Given the description of an element on the screen output the (x, y) to click on. 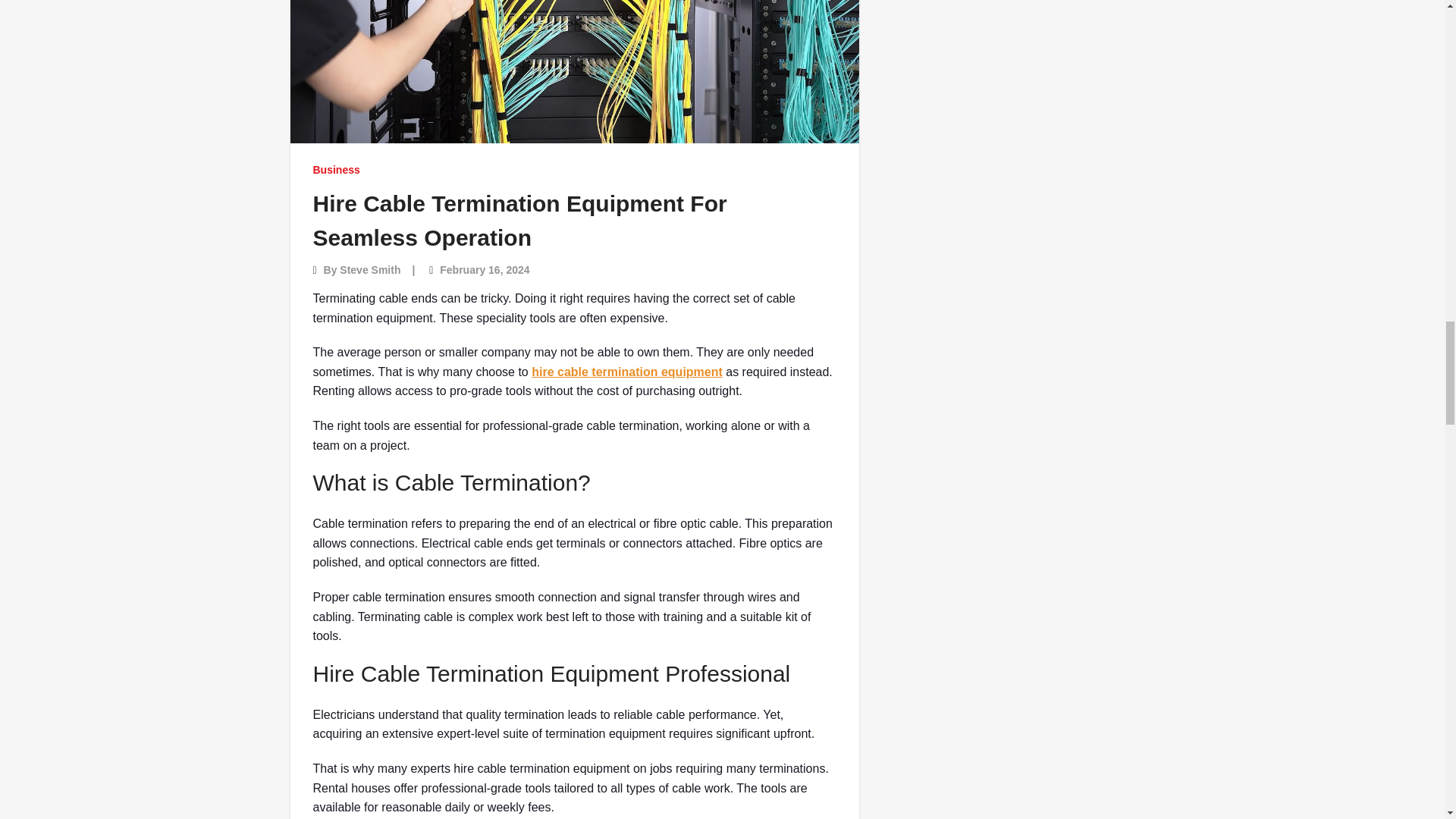
February 16, 2024 (484, 269)
Business (336, 169)
Hire Cable Termination Equipment For Seamless Operation (519, 220)
Steve Smith (369, 269)
hire cable termination equipment (626, 371)
